Given the description of an element on the screen output the (x, y) to click on. 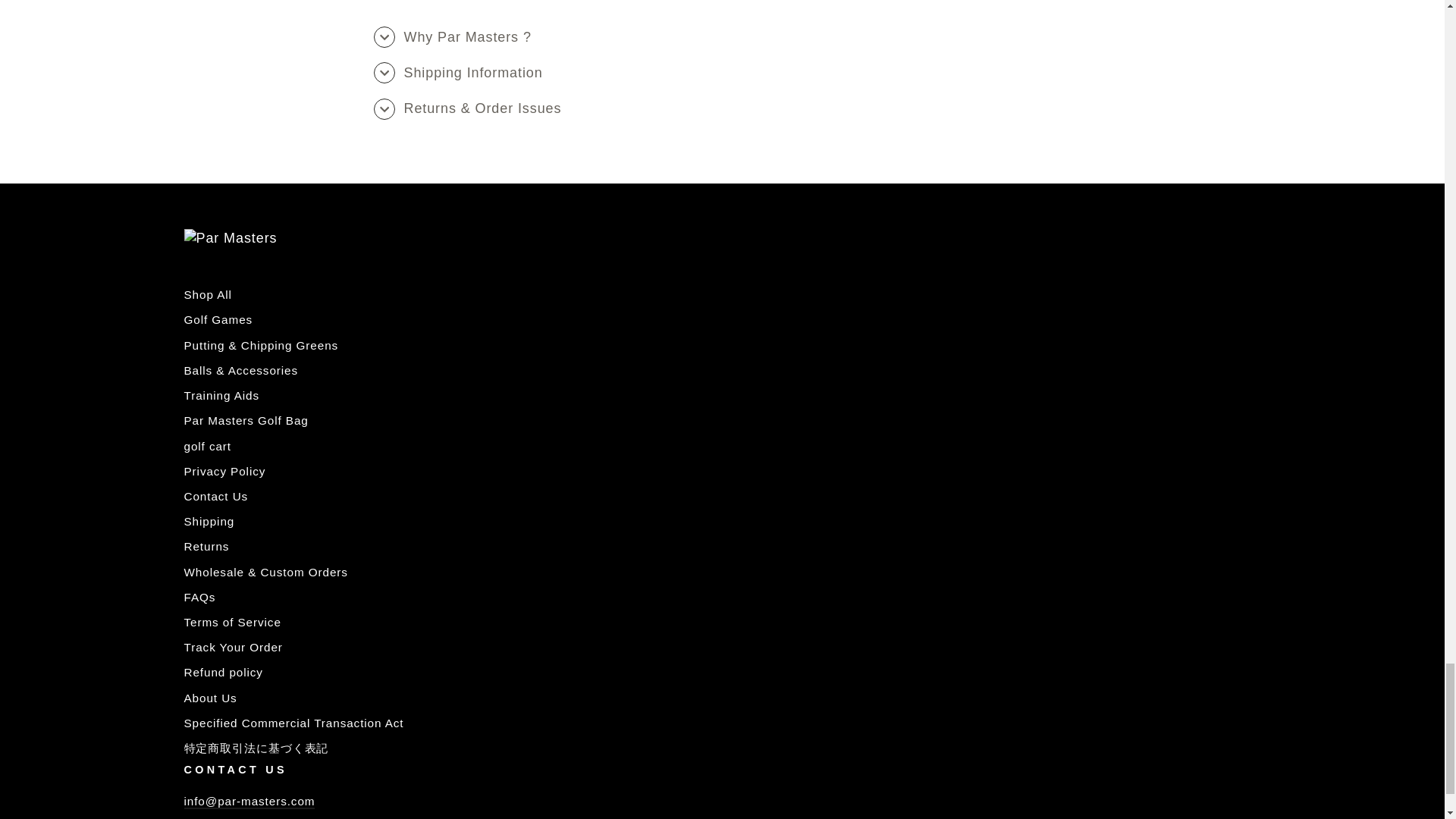
Contact Us (248, 801)
